Given the description of an element on the screen output the (x, y) to click on. 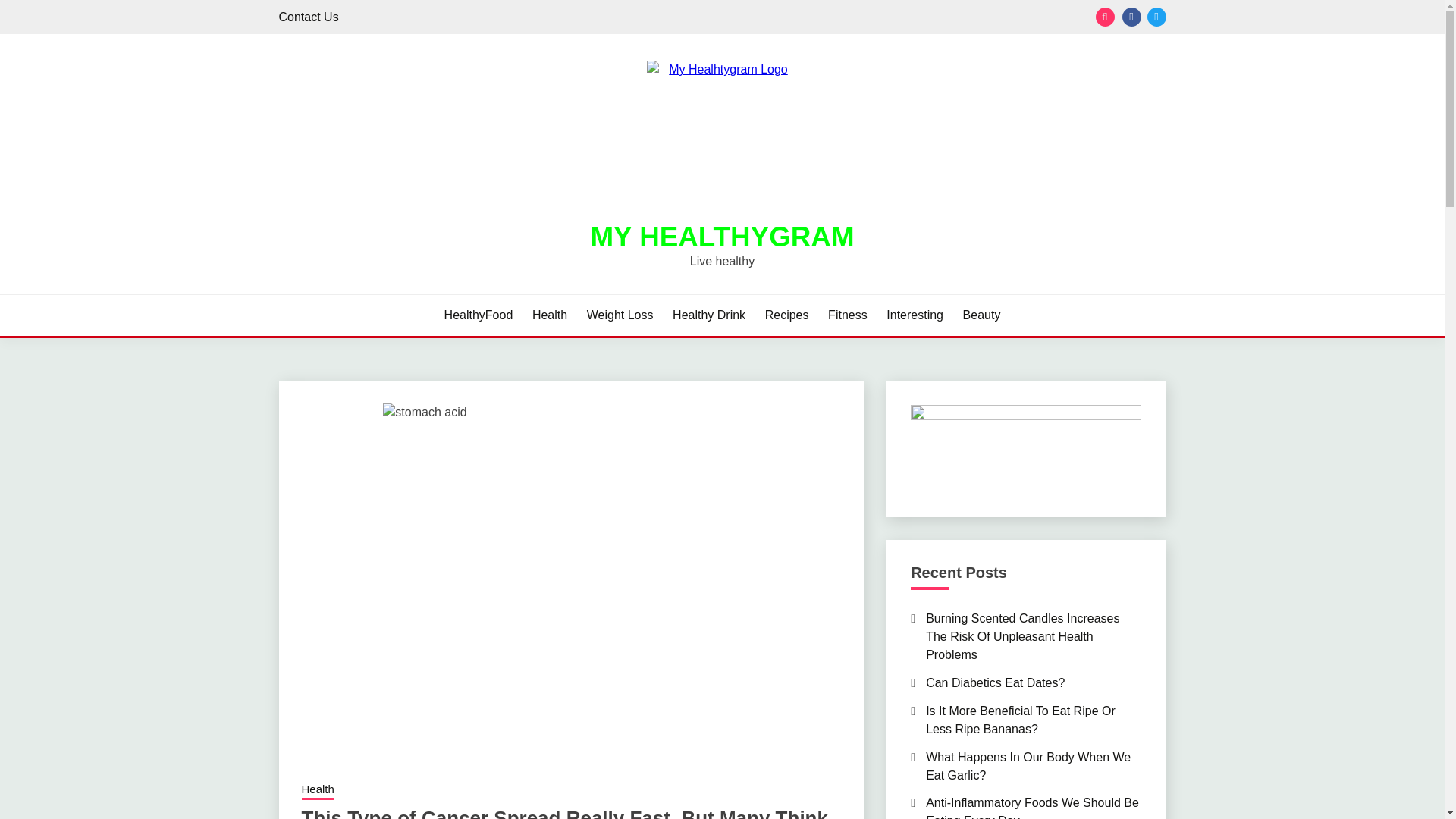
Recipes (787, 315)
Health (549, 315)
Twitter (1156, 16)
Facebook (1131, 16)
Beauty (981, 315)
Healthy Drink (708, 315)
Health (317, 790)
Fitness (847, 315)
Contact Us (309, 16)
Search (832, 18)
